Given the description of an element on the screen output the (x, y) to click on. 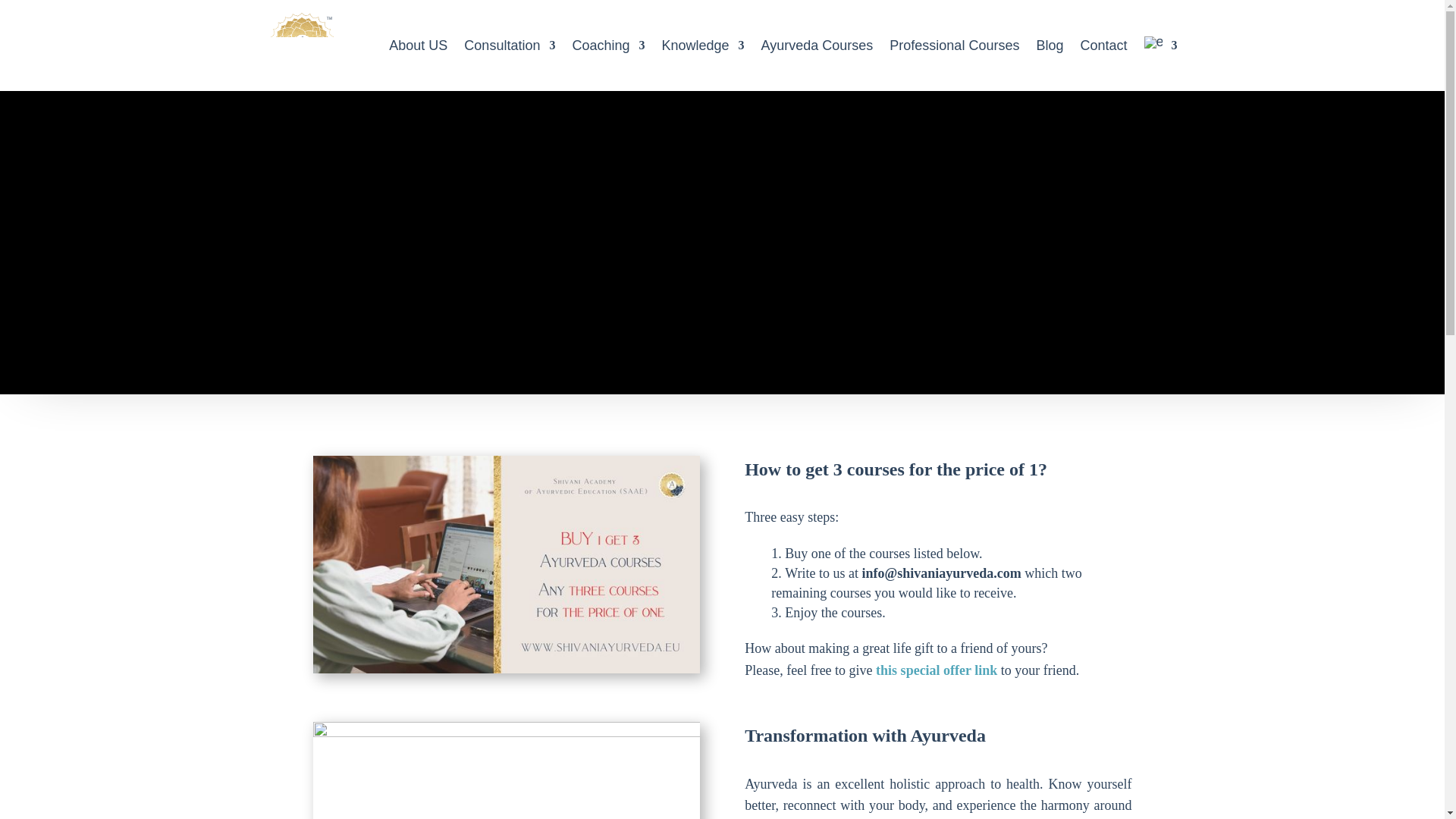
Knowledge (702, 45)
this special offer link (936, 670)
Consultation (509, 45)
Ayurveda Courses (817, 45)
Online Platform Headers (505, 770)
Coaching (608, 45)
Ayurveda-courses-Buy-1-Get-3 (505, 564)
Professional Courses (954, 45)
